Given the description of an element on the screen output the (x, y) to click on. 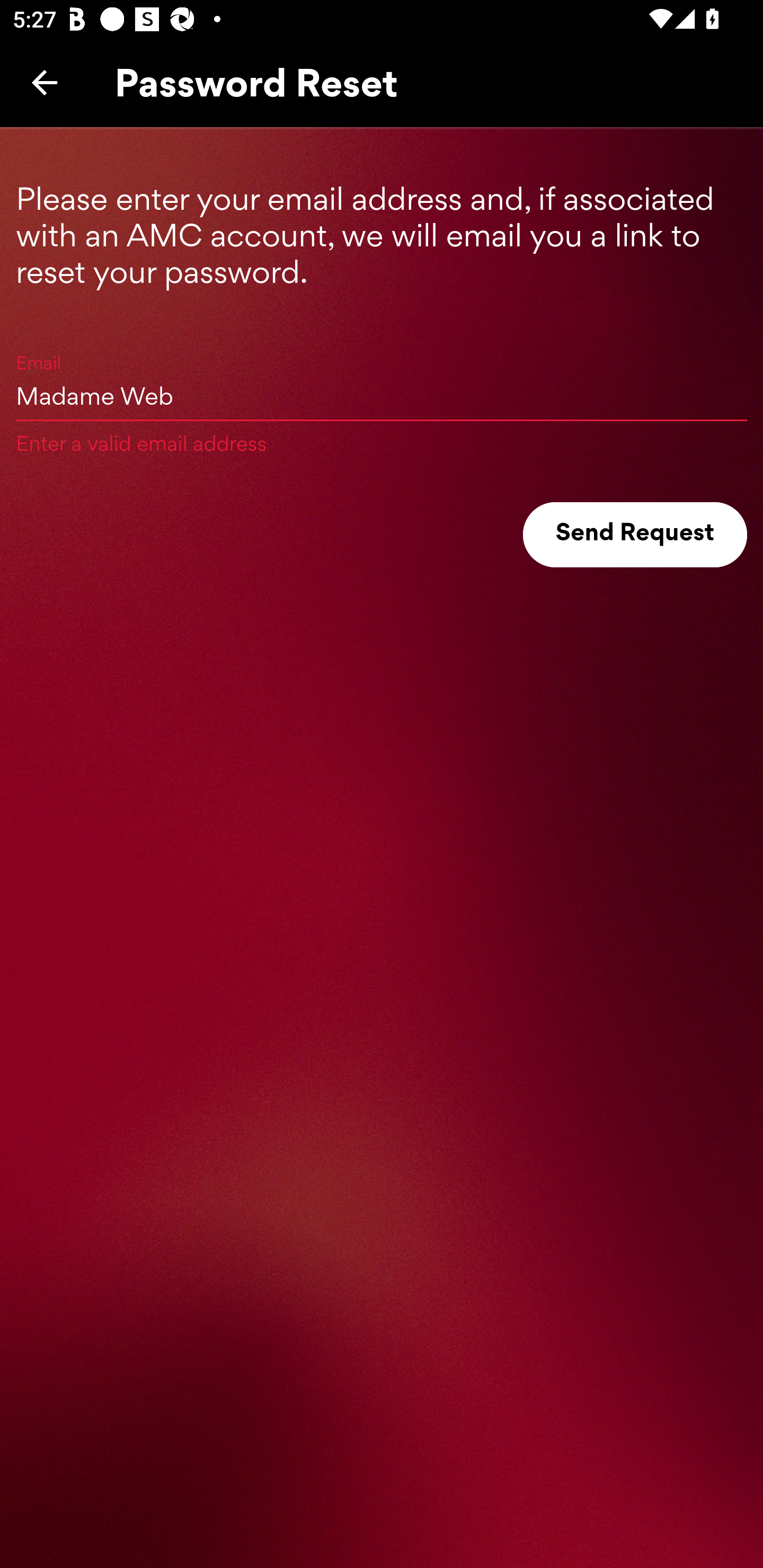
Back (44, 82)
Madame Web Enter a valid email address (381, 394)
Send Request (634, 535)
